Given the description of an element on the screen output the (x, y) to click on. 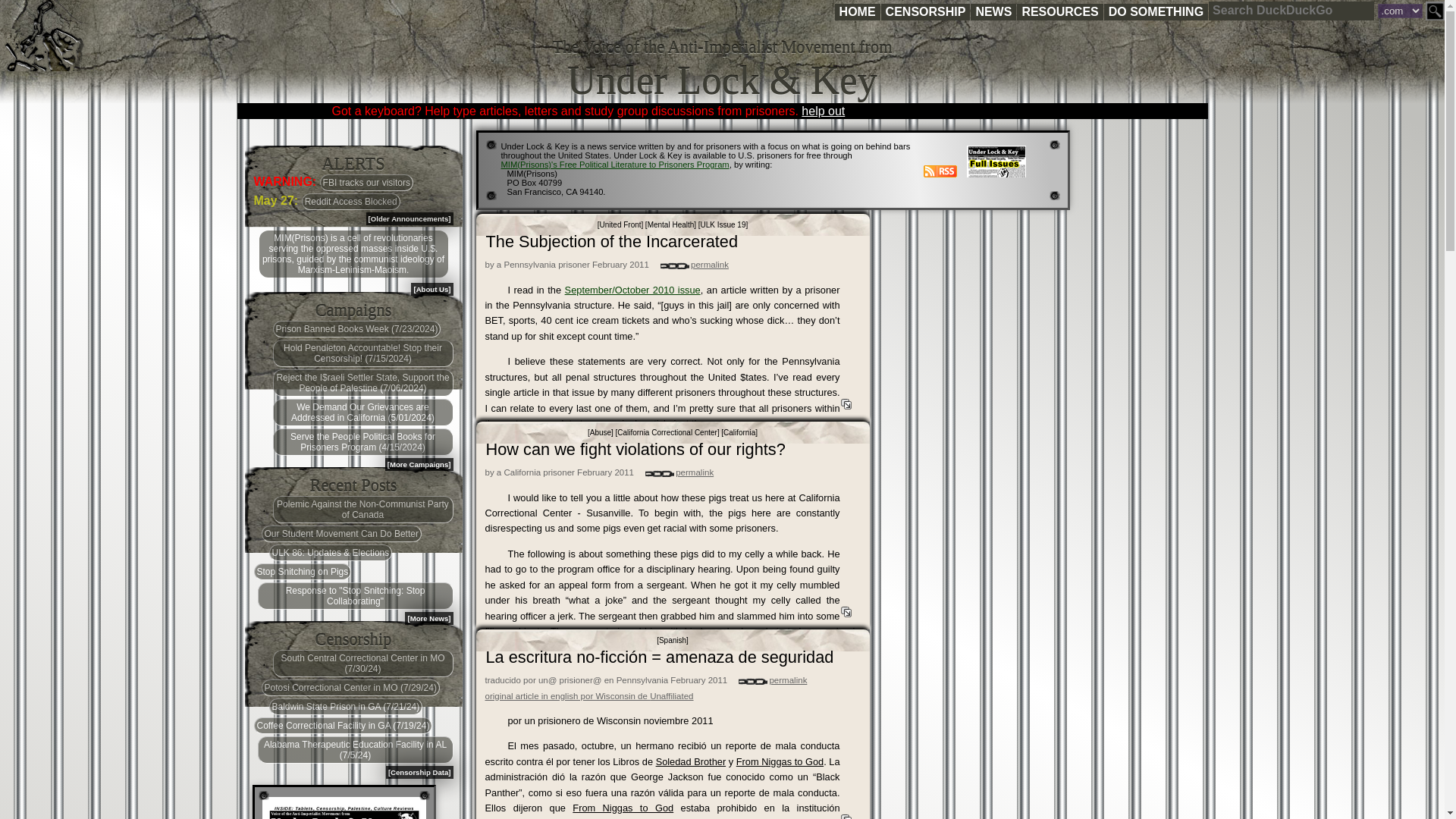
HOME (857, 12)
RESOURCES (1059, 12)
Reddit Access Blocked (350, 201)
Download Latest Issue (344, 807)
CENSORSHIP (925, 12)
NEWS (993, 12)
Response to "Stop Snitching: Stop Collaborating" (354, 595)
Our Student Movement Can Do Better (340, 533)
DO SOMETHING (1155, 12)
help out (823, 110)
